Given the description of an element on the screen output the (x, y) to click on. 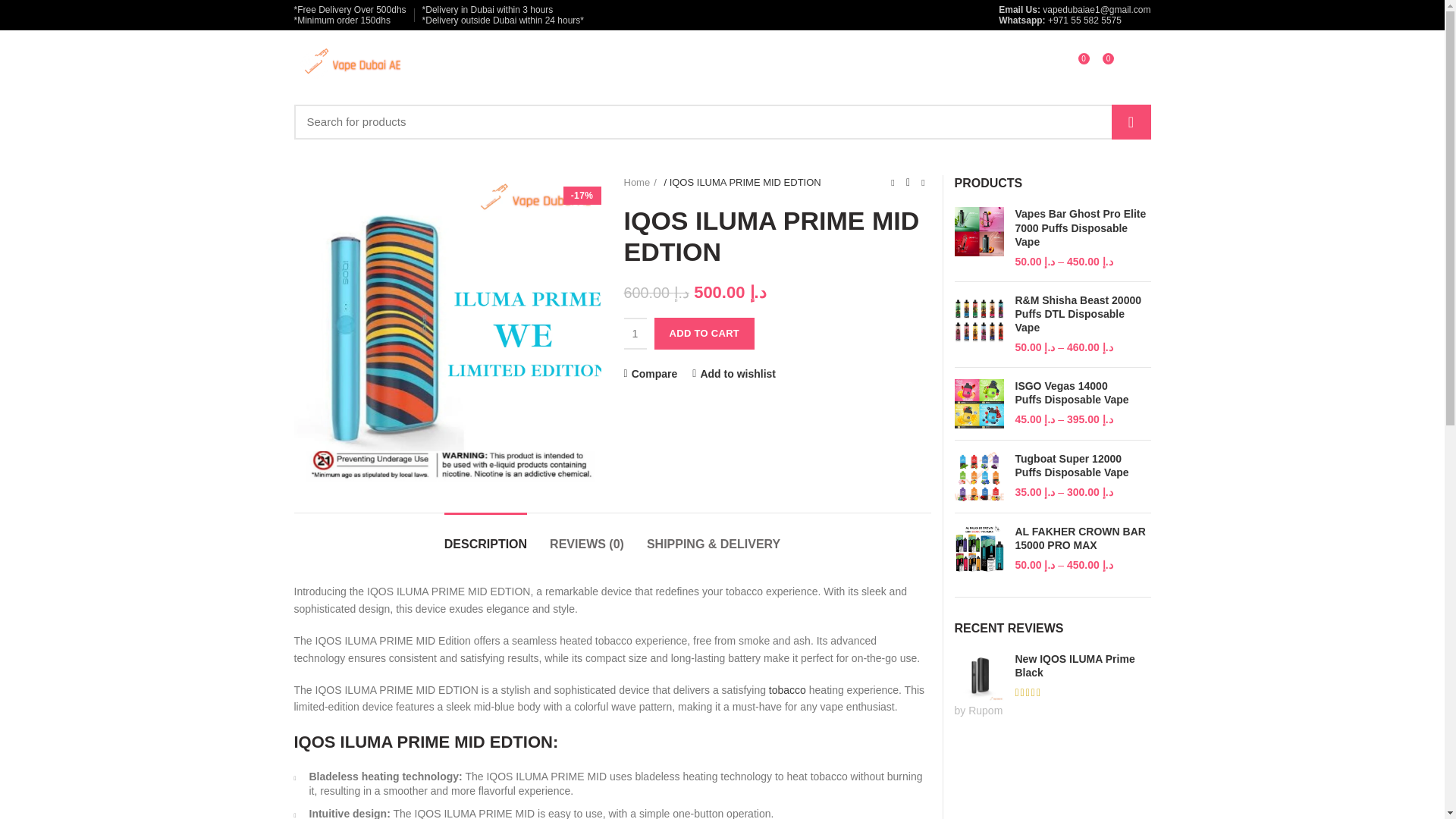
Home (639, 182)
Vapes Bar Ghost Pro Elite 7000 Puffs Disposable Vape (1082, 227)
Shopping cart (1126, 64)
DISPOSABLE VAPE (778, 64)
SHOP (484, 64)
My account (1017, 64)
POD DEVICE (617, 64)
MYLE (859, 64)
HOME (437, 64)
VAPE KIT (543, 64)
E-JUICE (913, 64)
BRANDS (690, 64)
SEARCH (1131, 121)
